Given the description of an element on the screen output the (x, y) to click on. 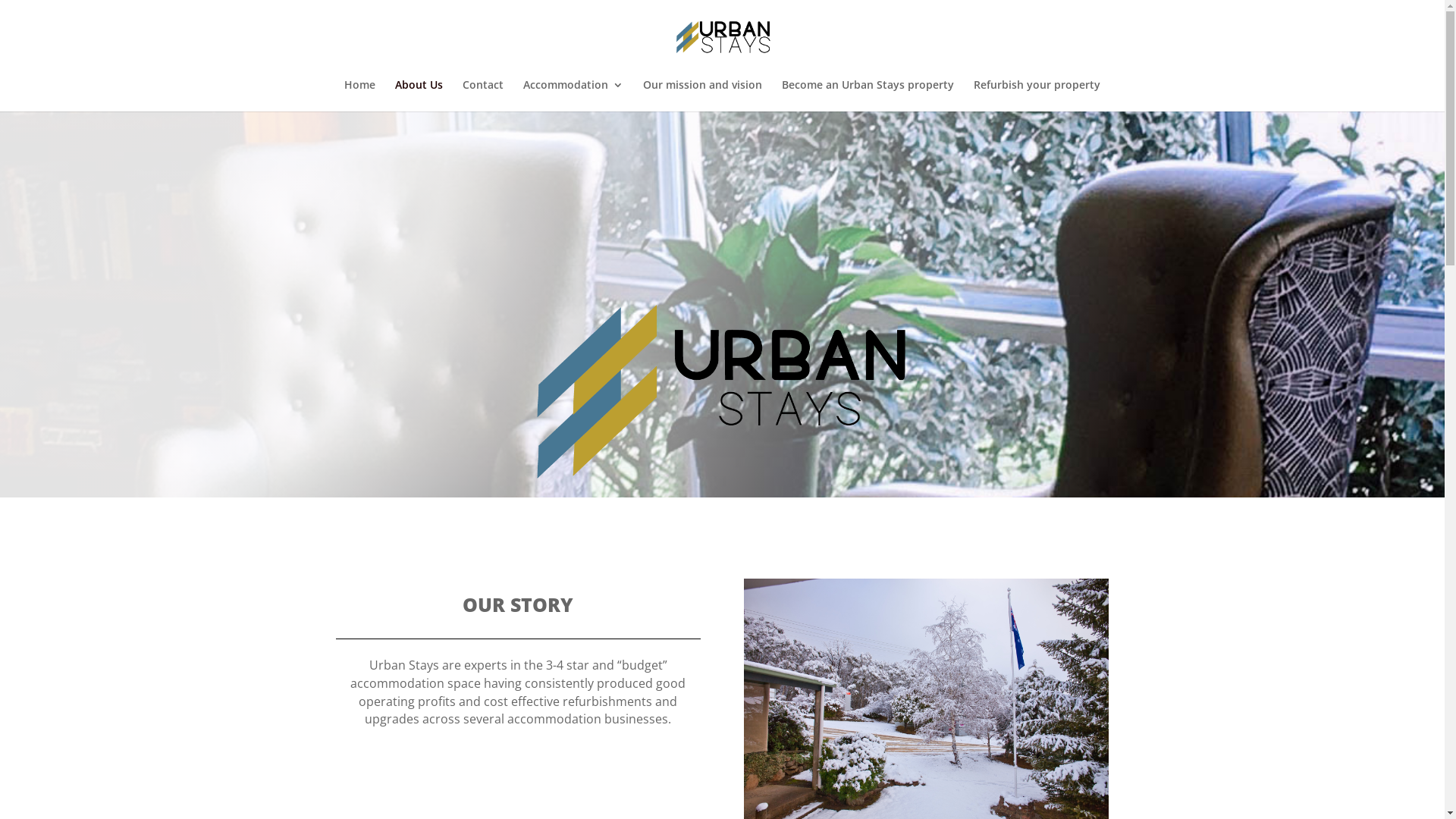
Contact Element type: text (482, 95)
Become an Urban Stays property Element type: text (867, 95)
Our mission and vision Element type: text (702, 95)
Untitled-1 Element type: hover (722, 390)
Accommodation Element type: text (573, 95)
Home Element type: text (359, 95)
Refurbish your property Element type: text (1036, 95)
About Us Element type: text (418, 95)
